Given the description of an element on the screen output the (x, y) to click on. 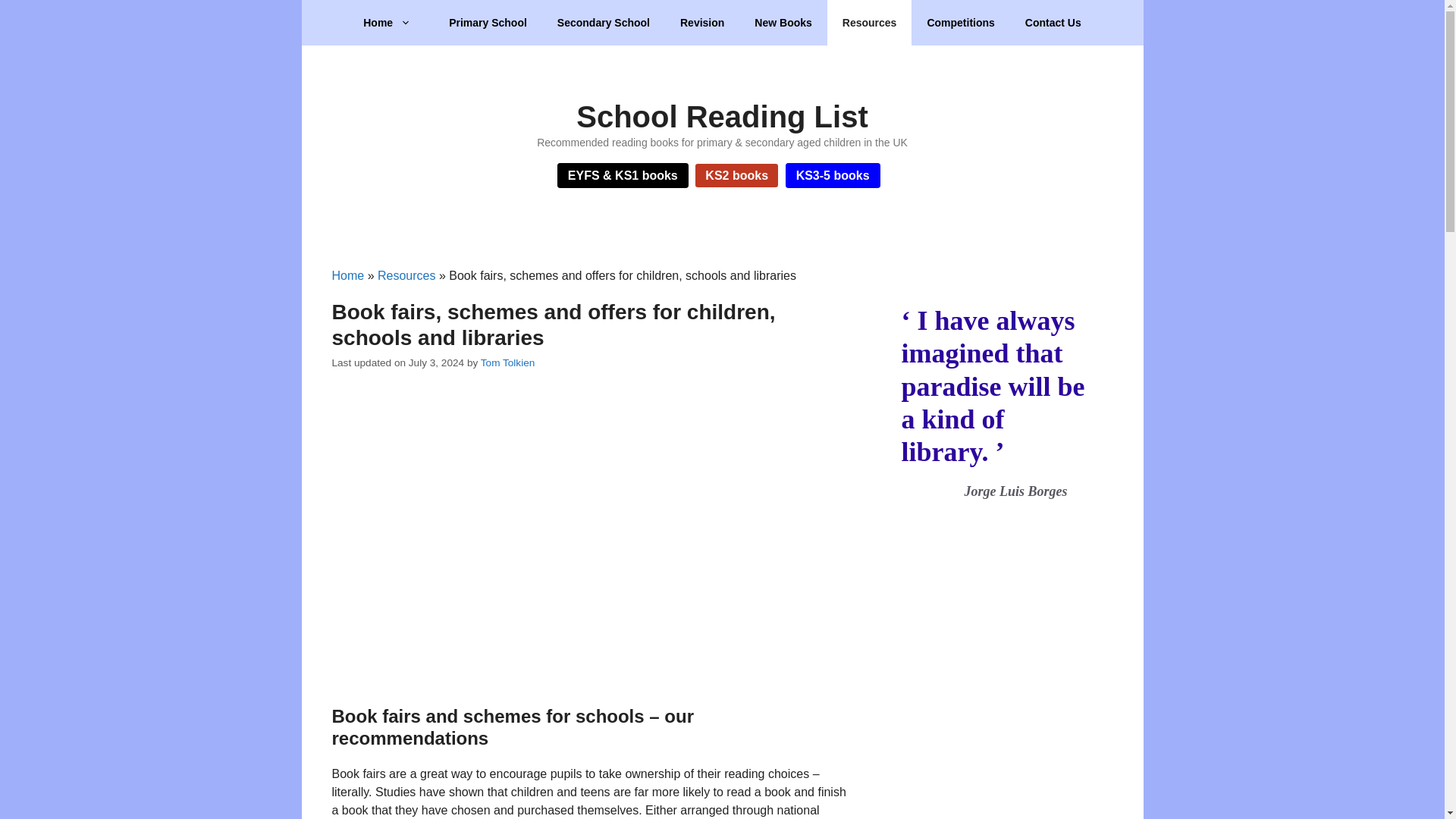
Resources (869, 22)
School Reading List (721, 116)
Competitions (960, 22)
Home (348, 275)
Primary School (487, 22)
Secondary School (603, 22)
Tom Tolkien (507, 362)
KS2 books (736, 175)
Home (390, 22)
Revision (702, 22)
